Given the description of an element on the screen output the (x, y) to click on. 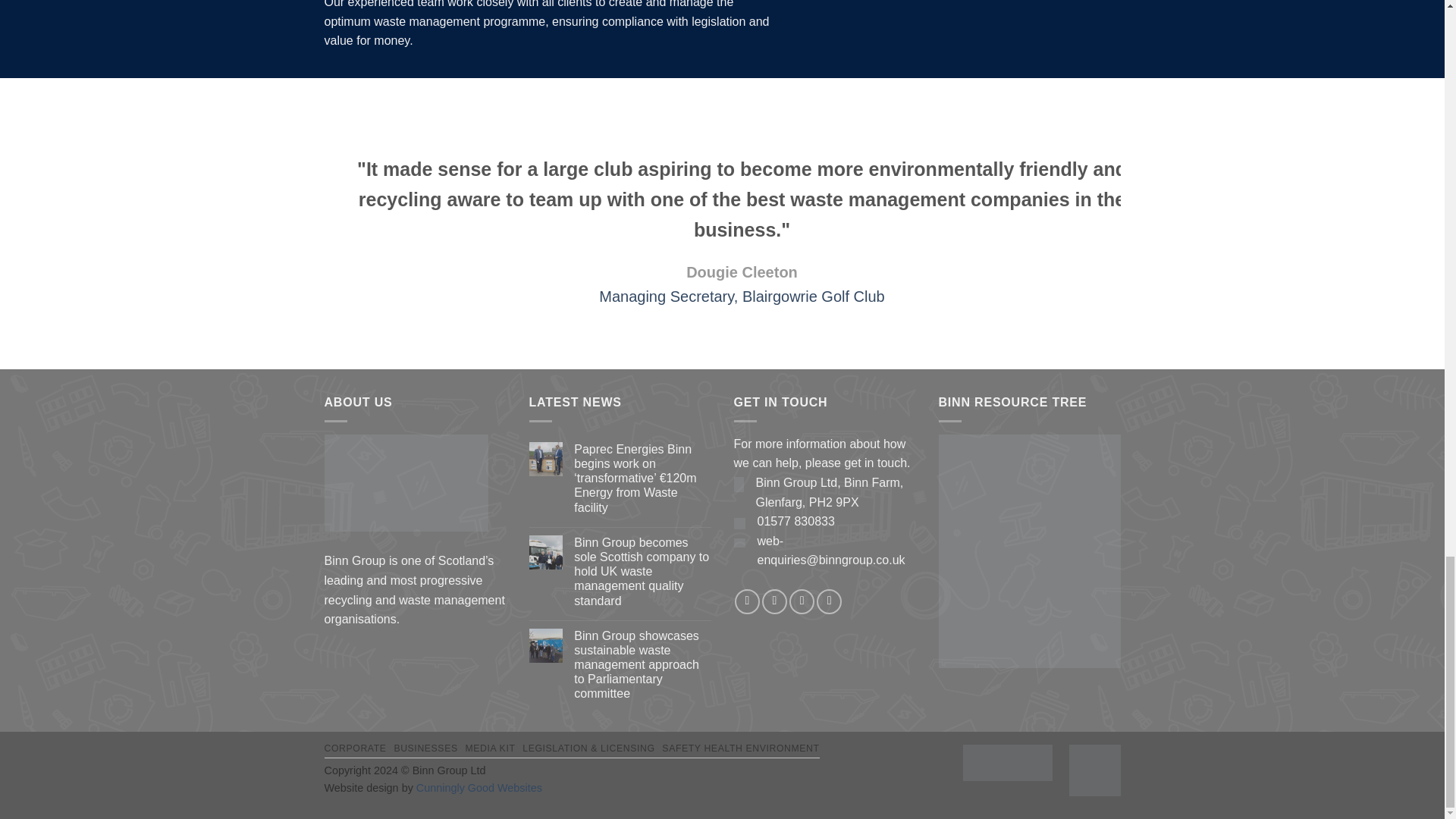
Follow on Facebook (747, 601)
